Given the description of an element on the screen output the (x, y) to click on. 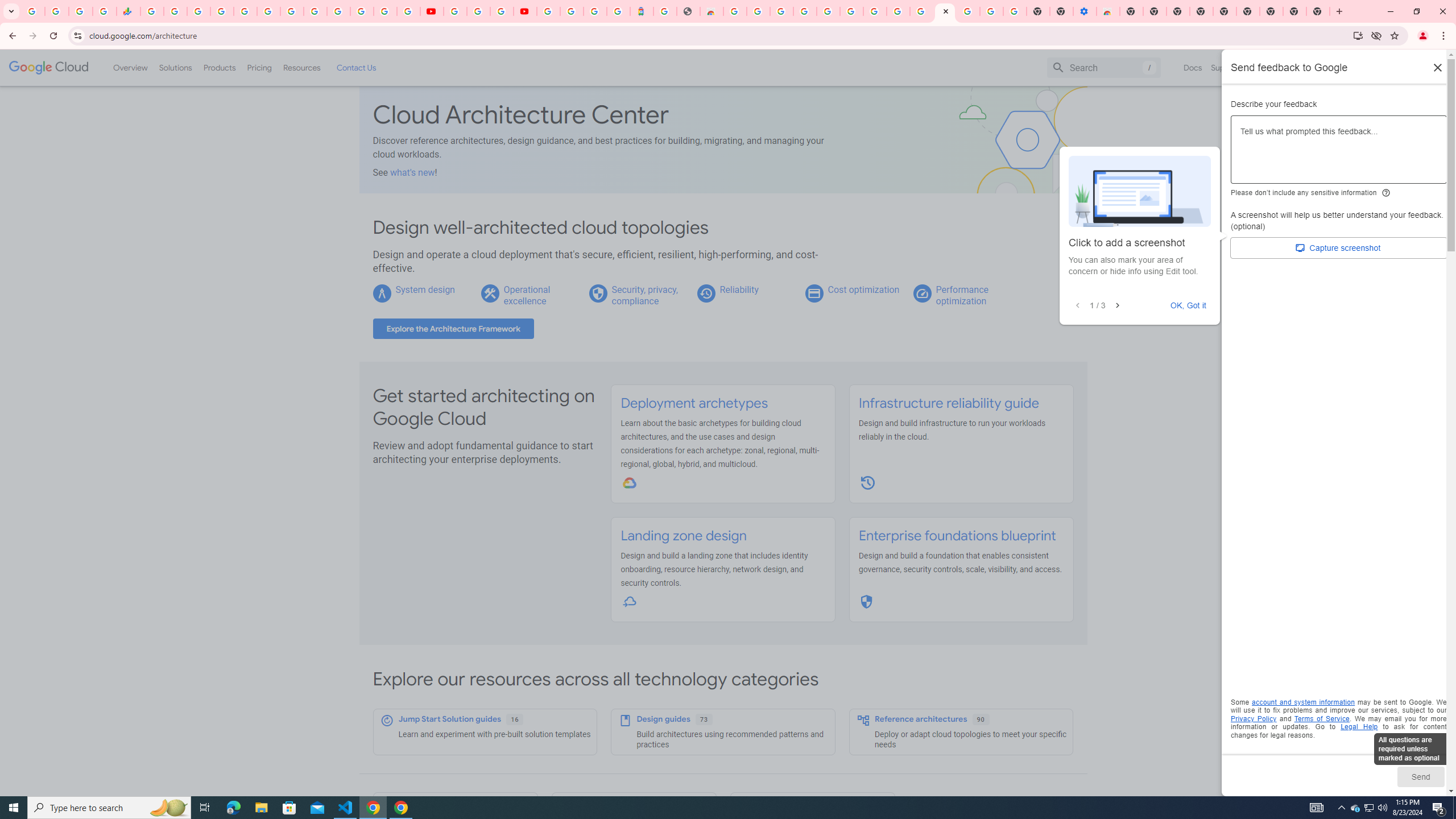
Pricing (259, 67)
YouTube (454, 11)
Next (1117, 305)
Chrome Web Store - Accessibility extensions (1108, 11)
Overview (130, 67)
Infrastructure reliability guide (948, 402)
System design (424, 289)
Sign in (1348, 67)
Android TV Policies and Guidelines - Transparency Center (291, 11)
Turn cookies on or off - Computer - Google Account Help (1015, 11)
